Given the description of an element on the screen output the (x, y) to click on. 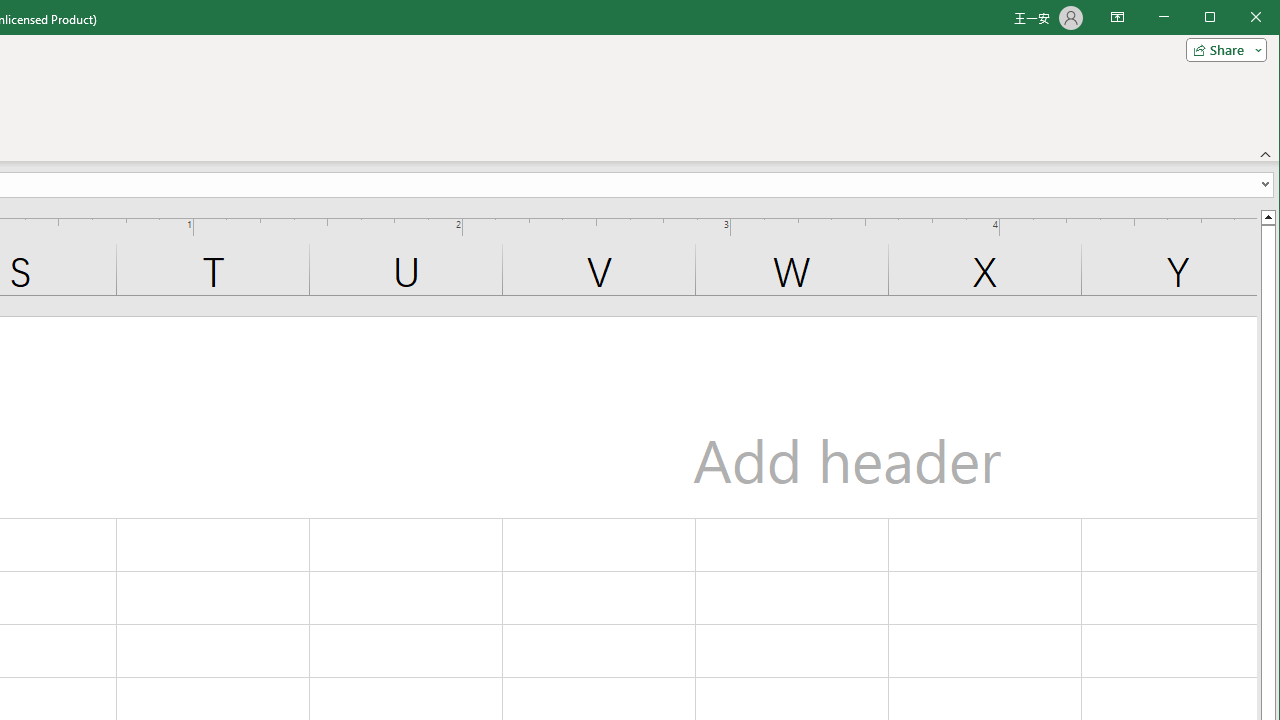
Collapse the Ribbon (1266, 154)
Ribbon Display Options (1117, 17)
Share (1222, 49)
Close (1261, 18)
Minimize (1216, 18)
Maximize (1238, 18)
Line up (1268, 216)
